Given the description of an element on the screen output the (x, y) to click on. 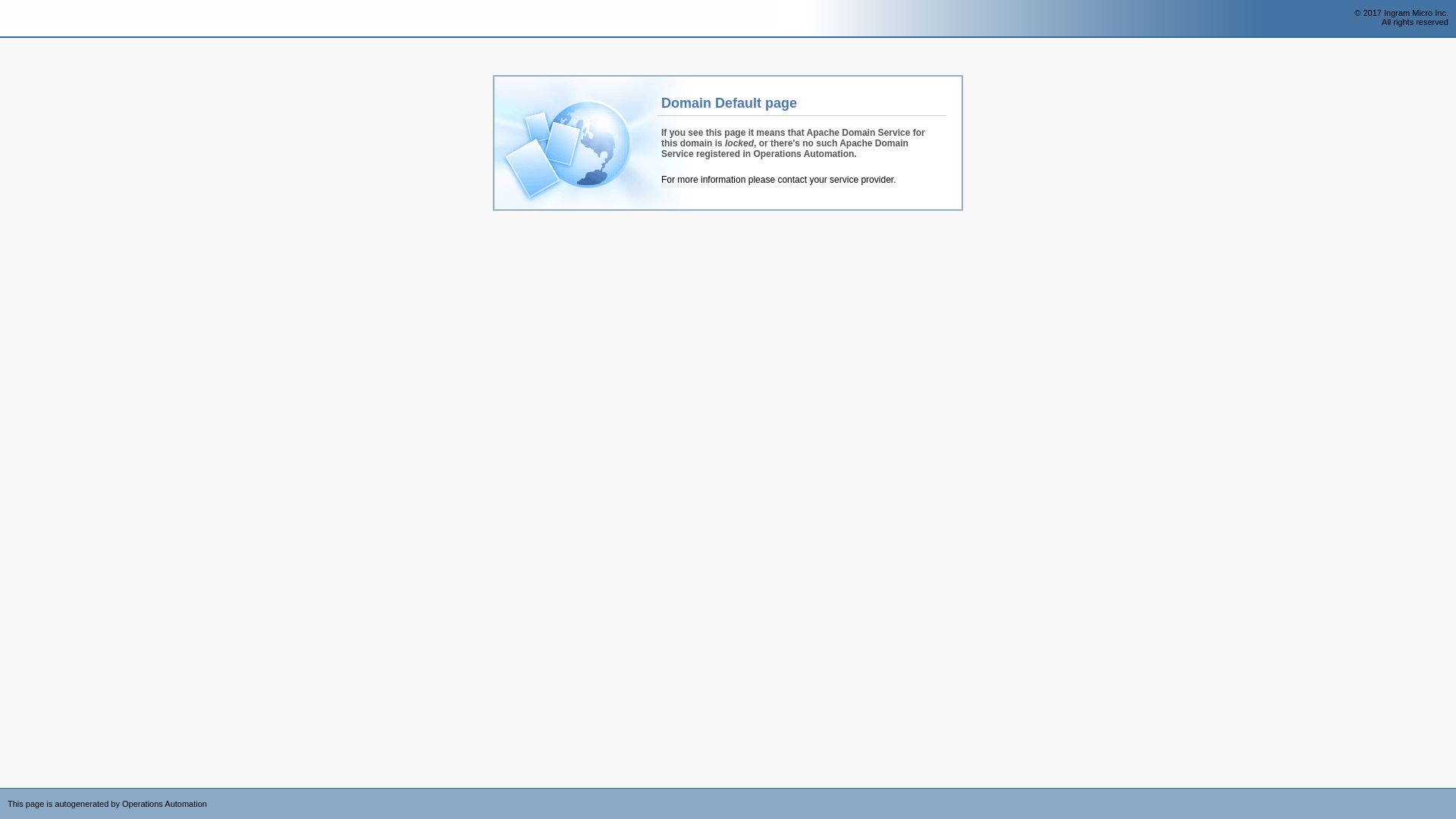
Operations Automation Element type: text (39, 18)
Powered by CloudBlue Commerce Element type: hover (1447, 792)
